Given the description of an element on the screen output the (x, y) to click on. 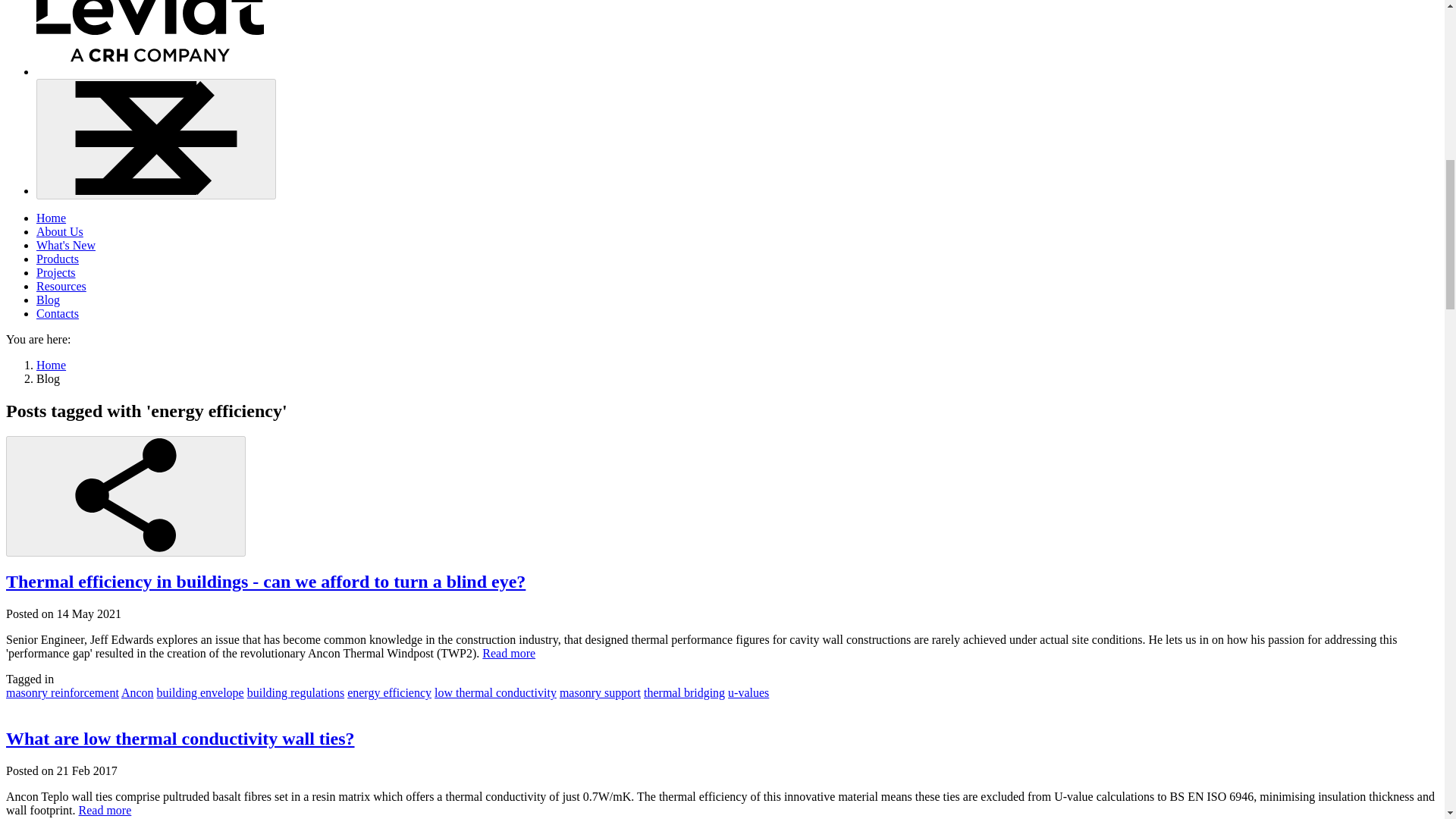
Home (50, 364)
What's New (66, 245)
Projects (55, 272)
About Us (59, 231)
masonry support (599, 692)
low thermal conductivity (494, 692)
Ancon (137, 692)
Resources (60, 286)
What are low thermal conductivity wall ties? (180, 738)
